Given the description of an element on the screen output the (x, y) to click on. 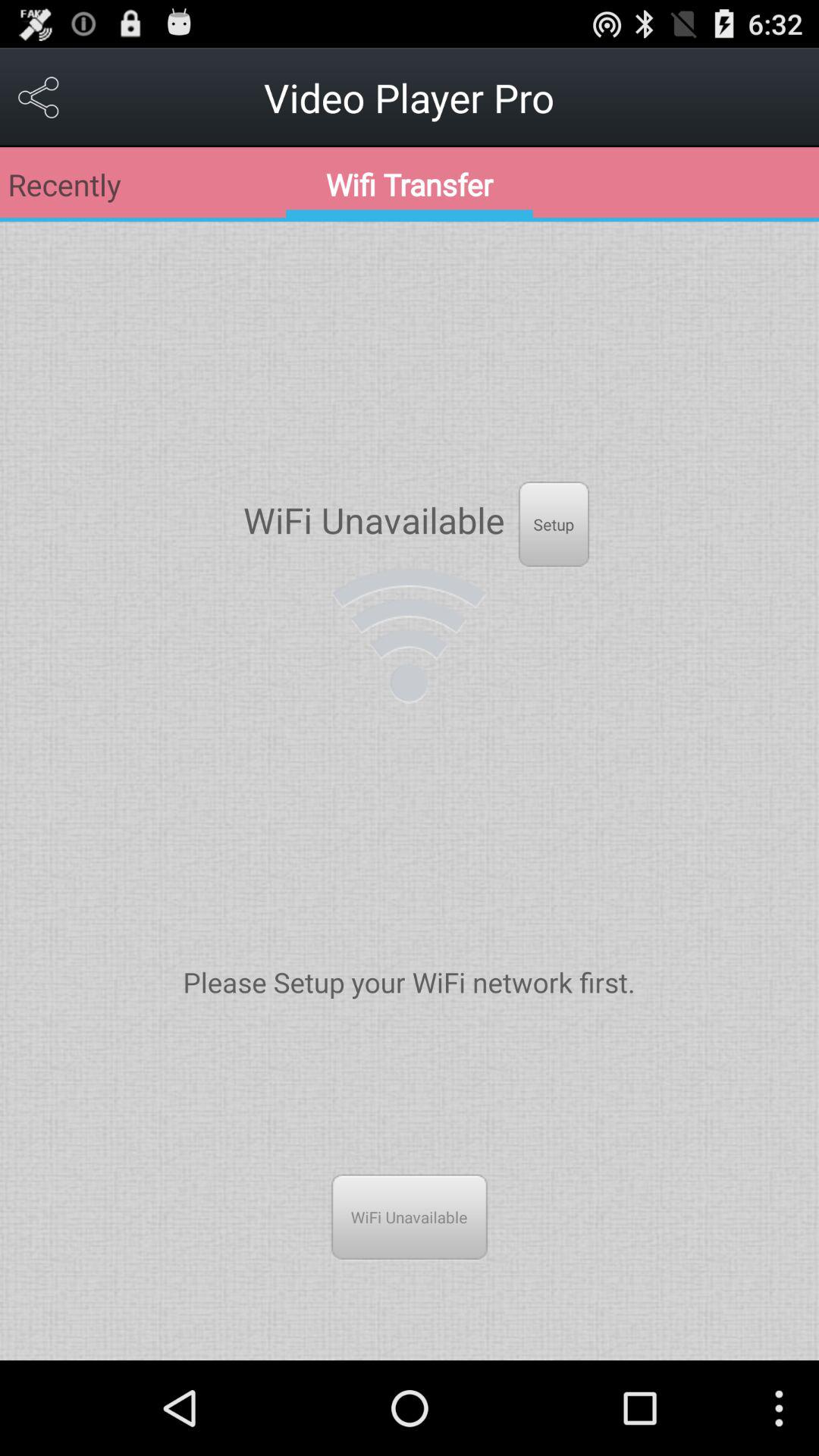
select the item at the top left corner (39, 97)
